Given the description of an element on the screen output the (x, y) to click on. 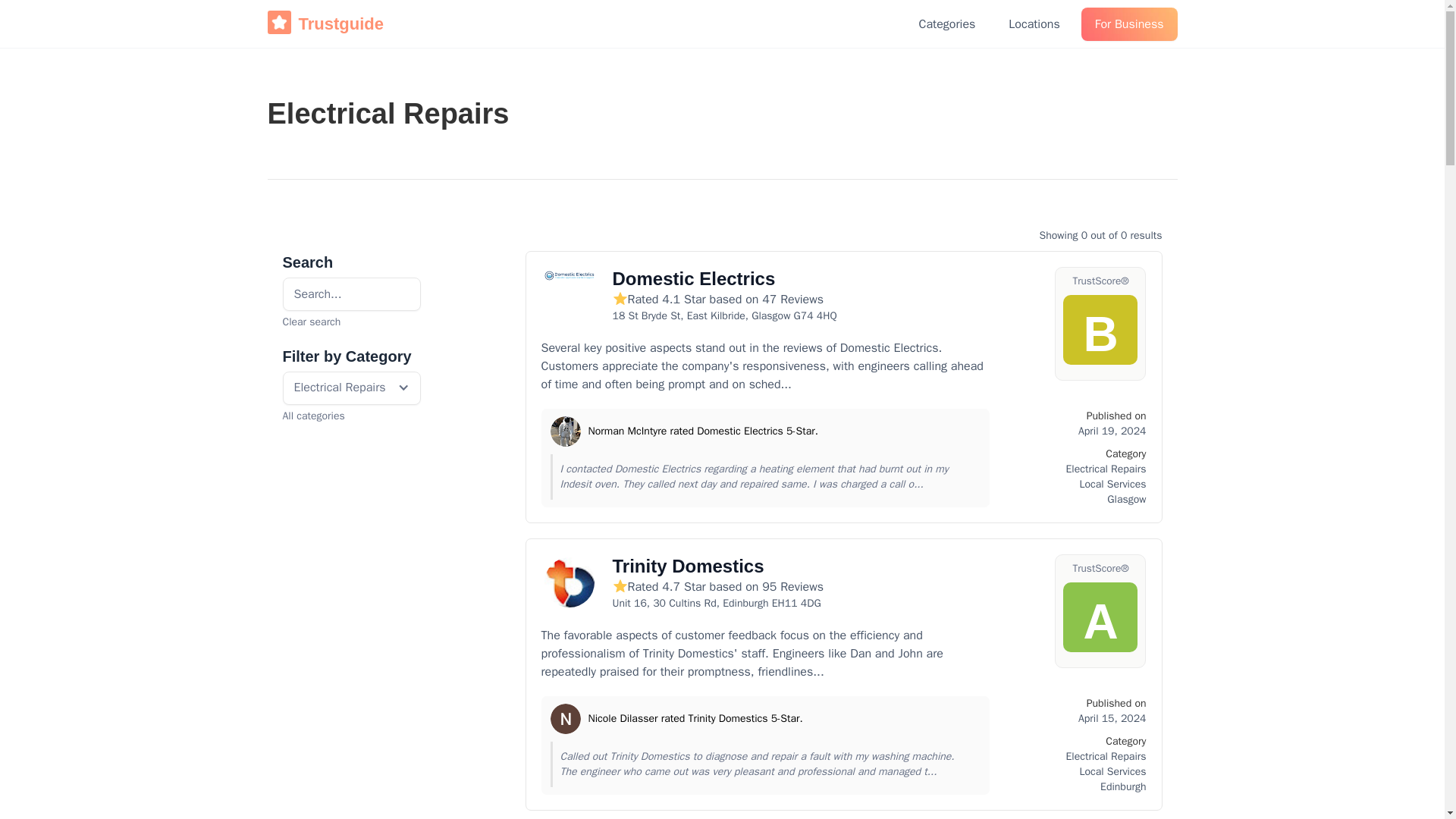
Locations (1033, 23)
Trustguide (324, 23)
Categories (947, 23)
Clear search (351, 322)
For Business (1129, 23)
